Given the description of an element on the screen output the (x, y) to click on. 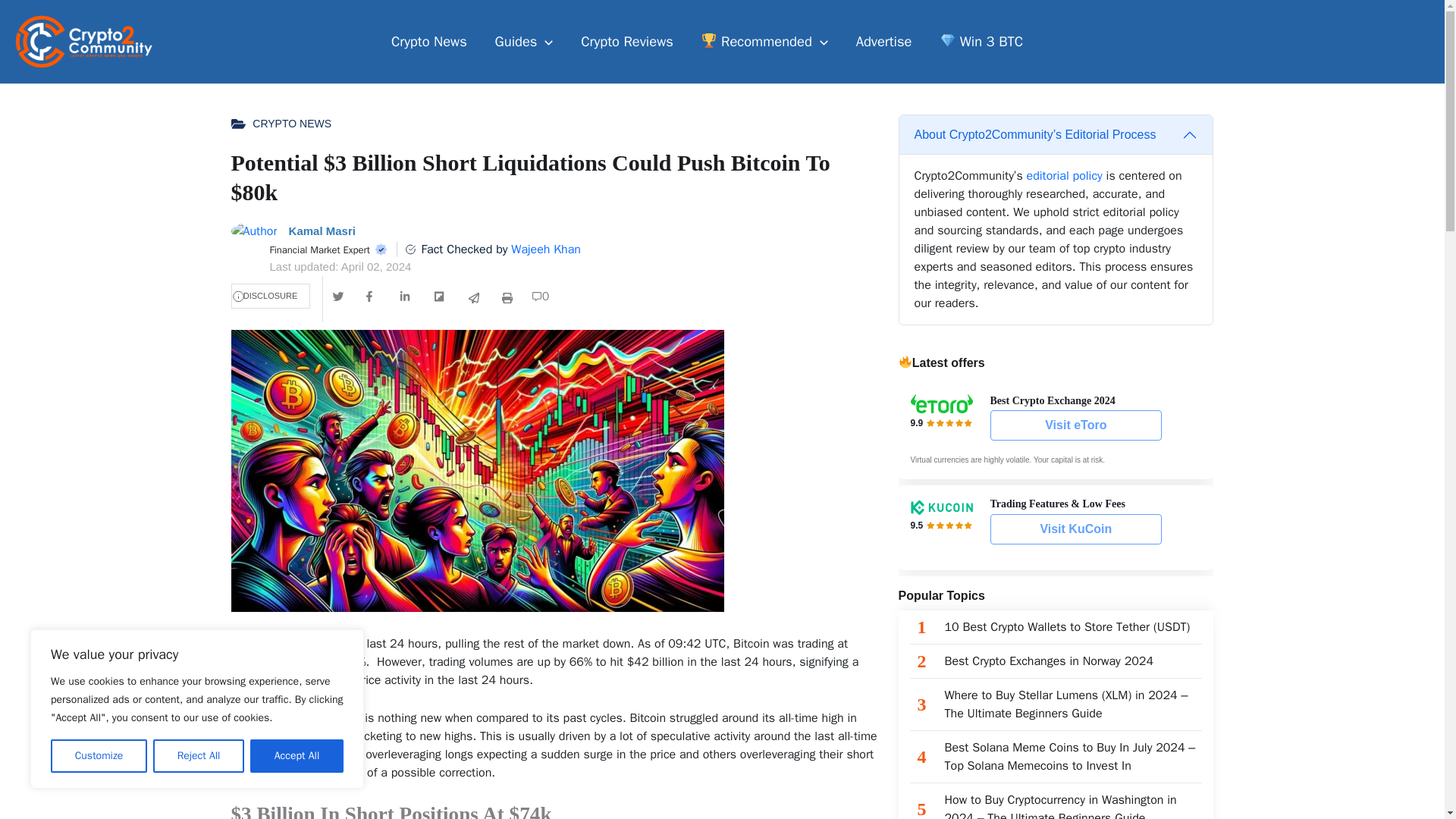
Crypto News (429, 41)
Jump to Comments (540, 296)
Share via Email (473, 297)
Print this article (507, 297)
Recommended (764, 41)
Accept All (296, 756)
Crypto Reviews (627, 41)
Customize (98, 756)
Share via Flipboard (439, 296)
Guides (523, 41)
Share via LinkedIn (405, 296)
Share via Twitter (338, 296)
Share via Facebook (371, 296)
Reject All (198, 756)
